Given the description of an element on the screen output the (x, y) to click on. 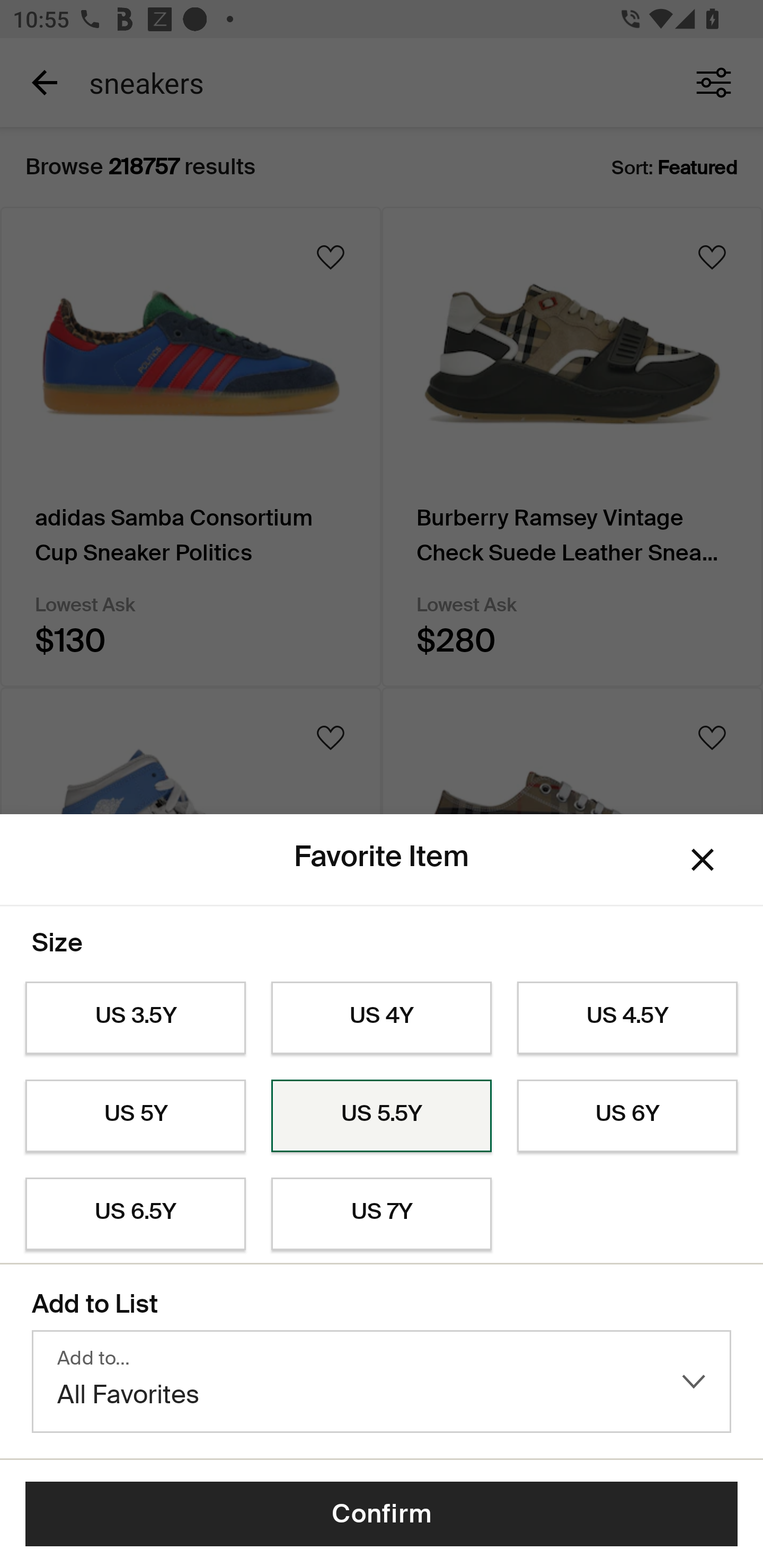
Dismiss (702, 859)
US 3.5Y (135, 1018)
US 4Y (381, 1018)
US 4.5Y (627, 1018)
US 5Y (135, 1116)
US 5.5Y (381, 1116)
US 6Y (627, 1116)
US 6.5Y (135, 1214)
US 7Y (381, 1214)
Add to… All Favorites (381, 1381)
Confirm (381, 1513)
